Given the description of an element on the screen output the (x, y) to click on. 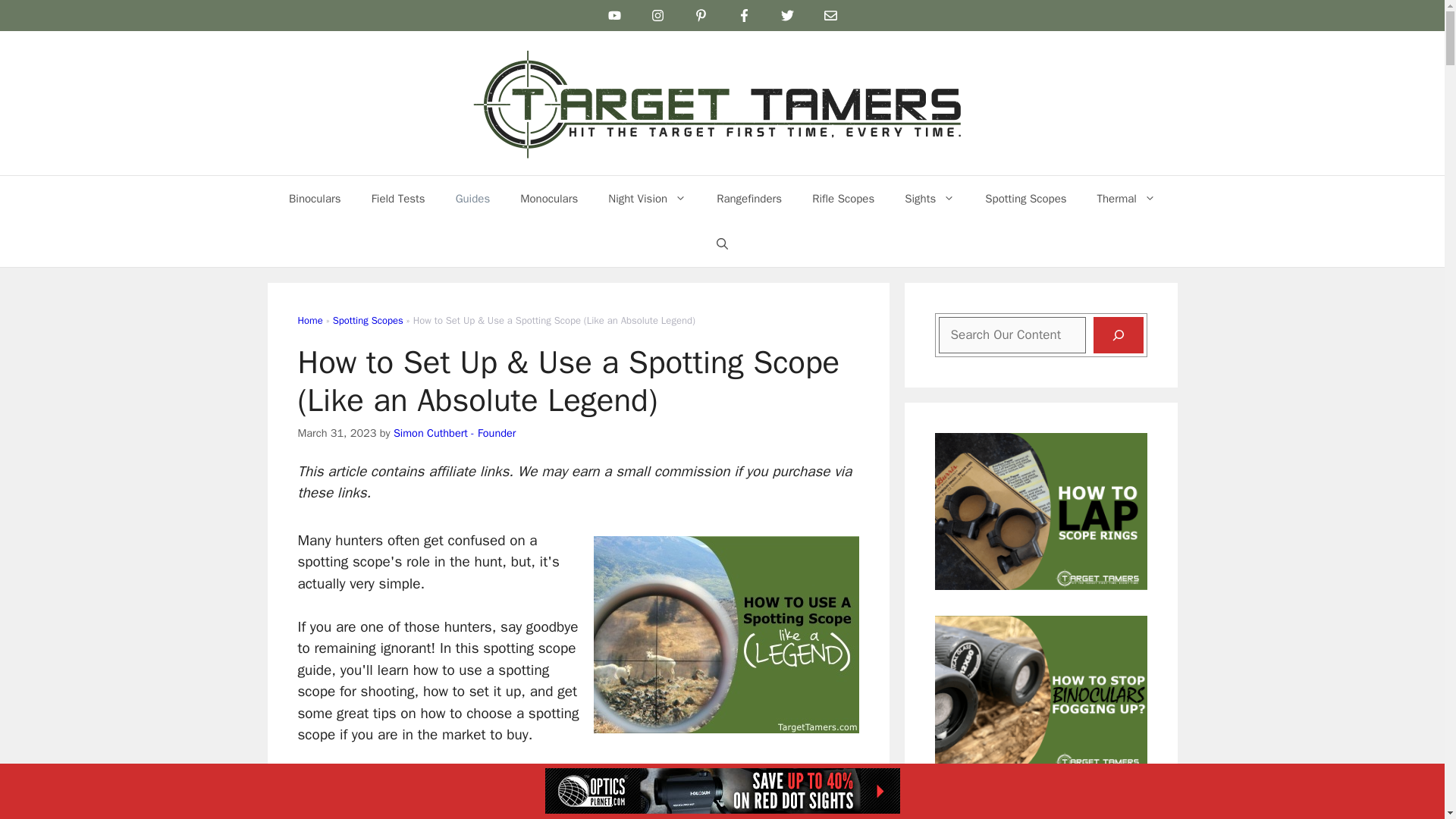
Sights (929, 198)
Spotting Scopes (1025, 198)
How to Keep Binoculars from Fogging Up? (1040, 763)
Guides (473, 198)
View all posts by Simon Cuthbert - Founder (454, 432)
Field Tests (398, 198)
Binoculars (314, 198)
Thermal (1125, 198)
Night Vision (646, 198)
Rifle Scopes (842, 198)
Monoculars (548, 198)
Rangefinders (748, 198)
